Given the description of an element on the screen output the (x, y) to click on. 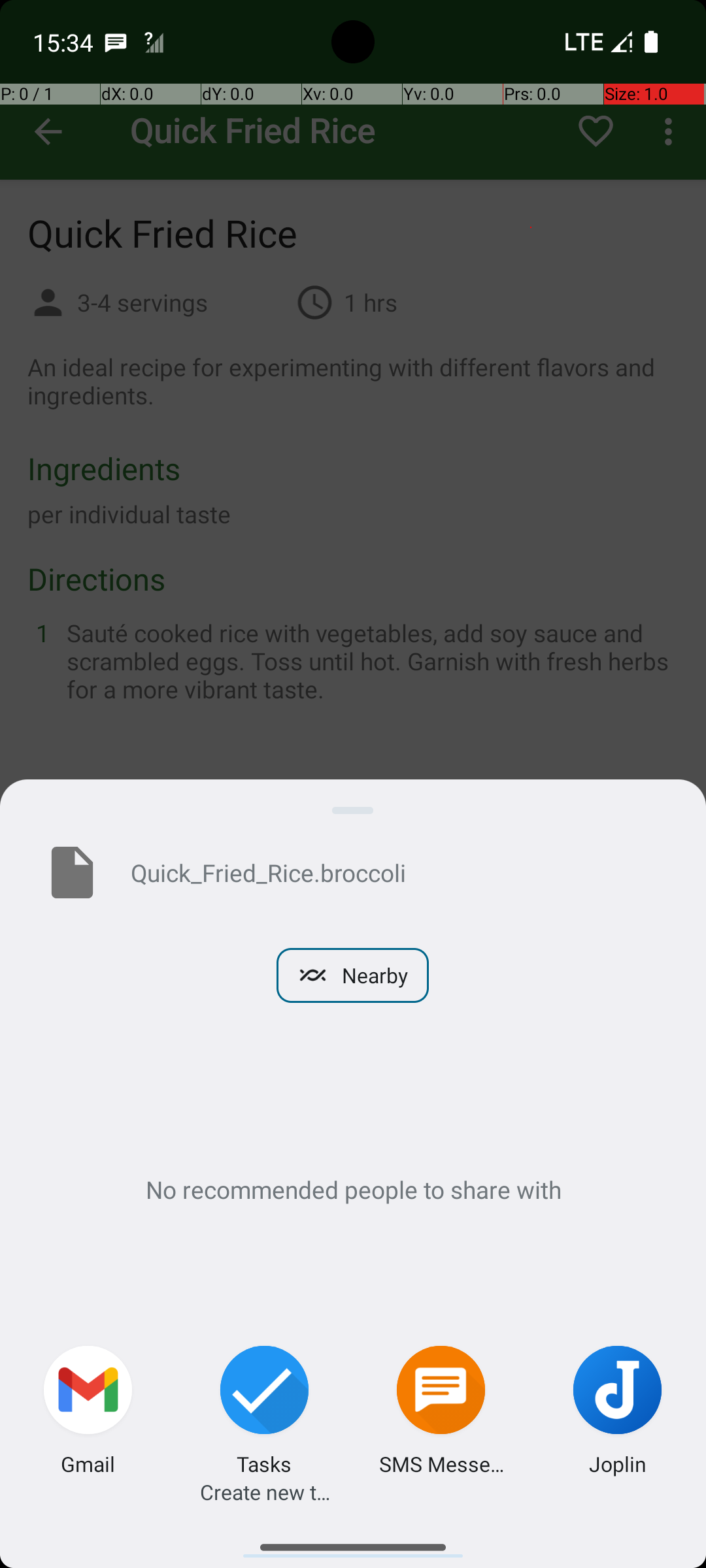
Quick_Fried_Rice.broccoli Element type: android.widget.TextView (397, 872)
